Given the description of an element on the screen output the (x, y) to click on. 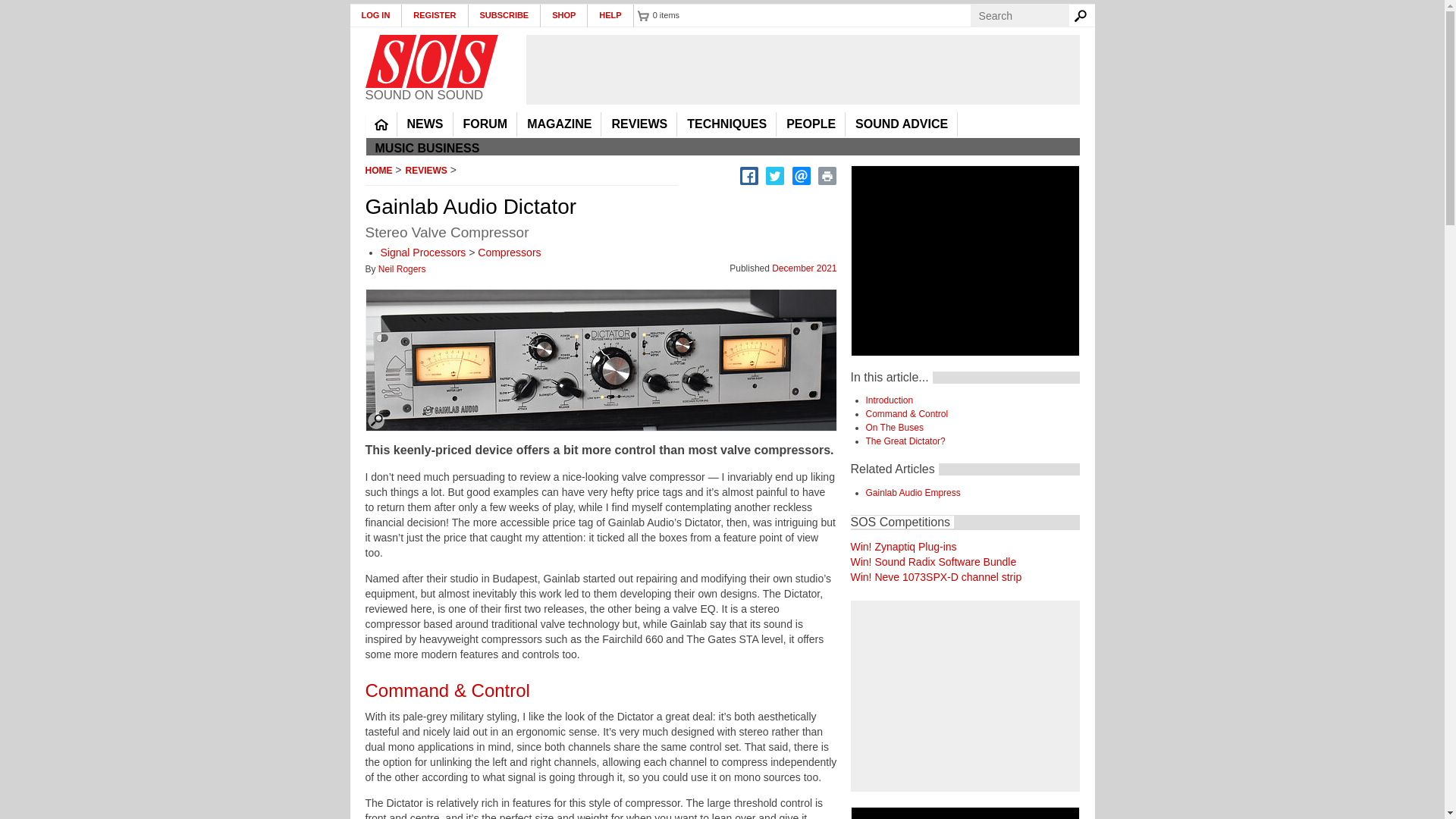
Home (431, 61)
SHOP (564, 15)
SUBSCRIBE (504, 15)
HELP (610, 15)
LOG IN (376, 15)
Search (1082, 15)
Search (1082, 15)
REGISTER (434, 15)
HOME (380, 124)
MAGAZINE (558, 124)
FORUM (484, 124)
NEWS (424, 124)
3rd party ad content (801, 70)
